Given the description of an element on the screen output the (x, y) to click on. 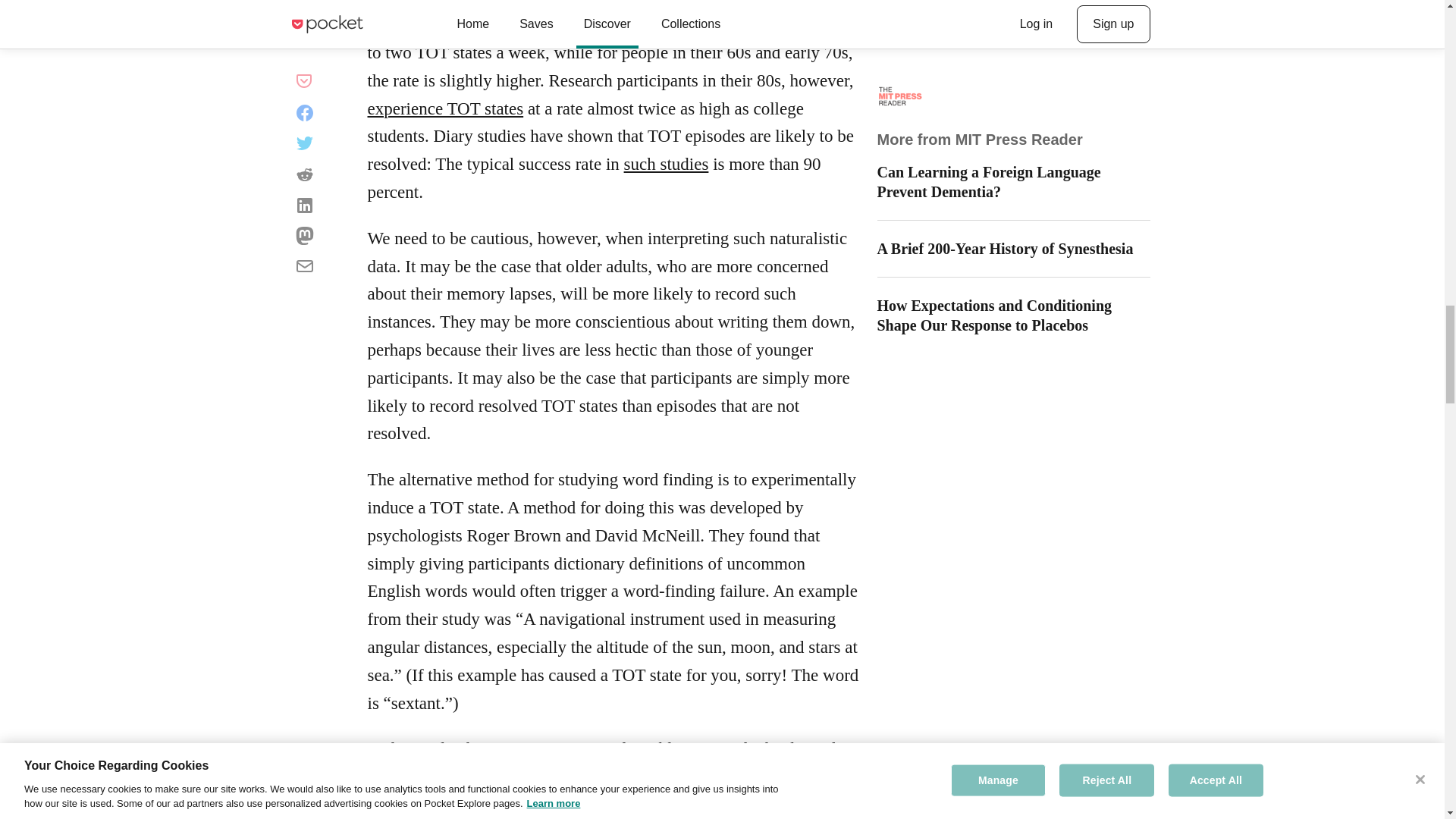
experience TOT states (444, 108)
such studies (666, 163)
